Given the description of an element on the screen output the (x, y) to click on. 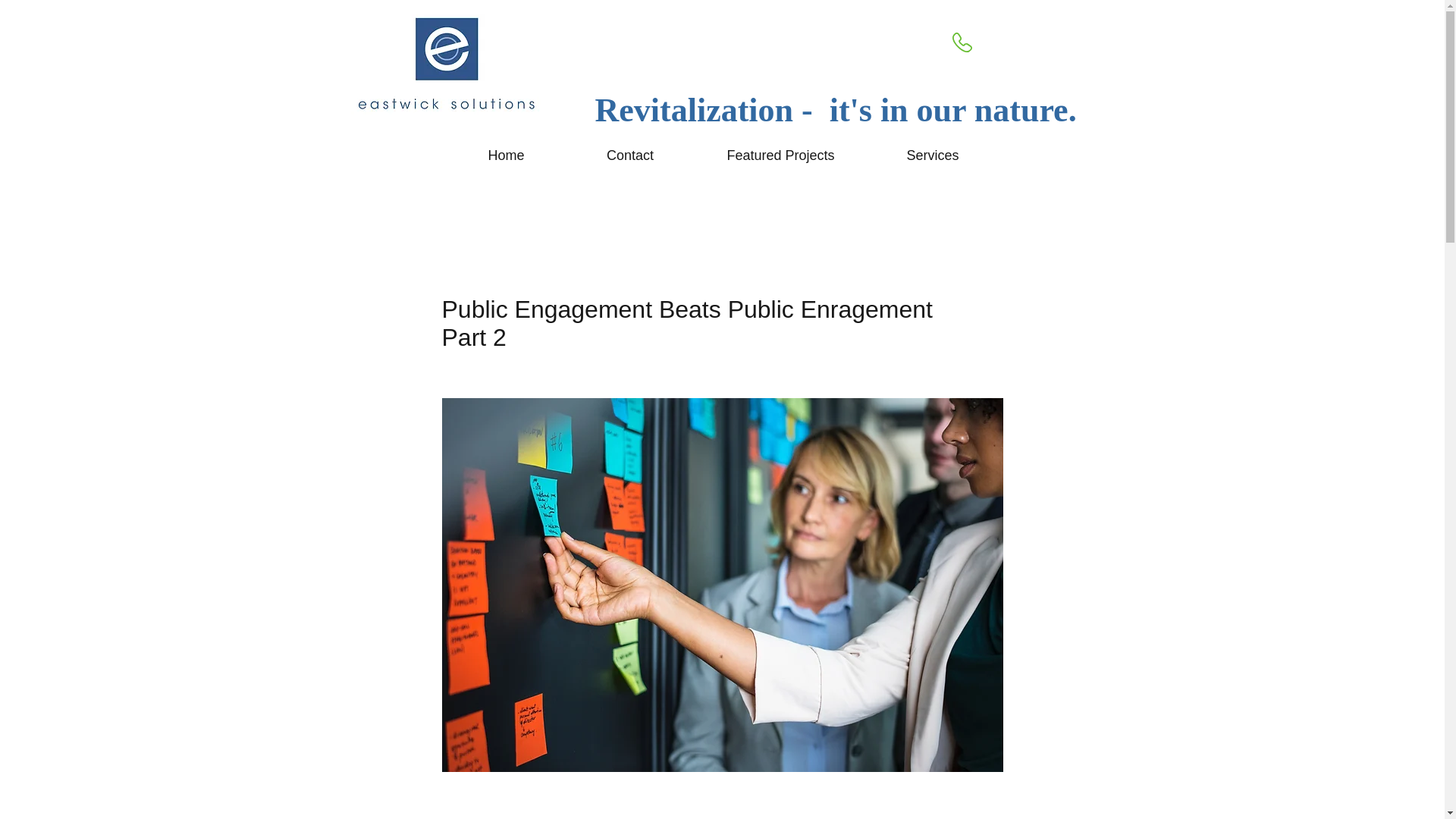
Home (505, 155)
Contact (630, 155)
Featured Projects (780, 155)
Services (932, 155)
